Given the description of an element on the screen output the (x, y) to click on. 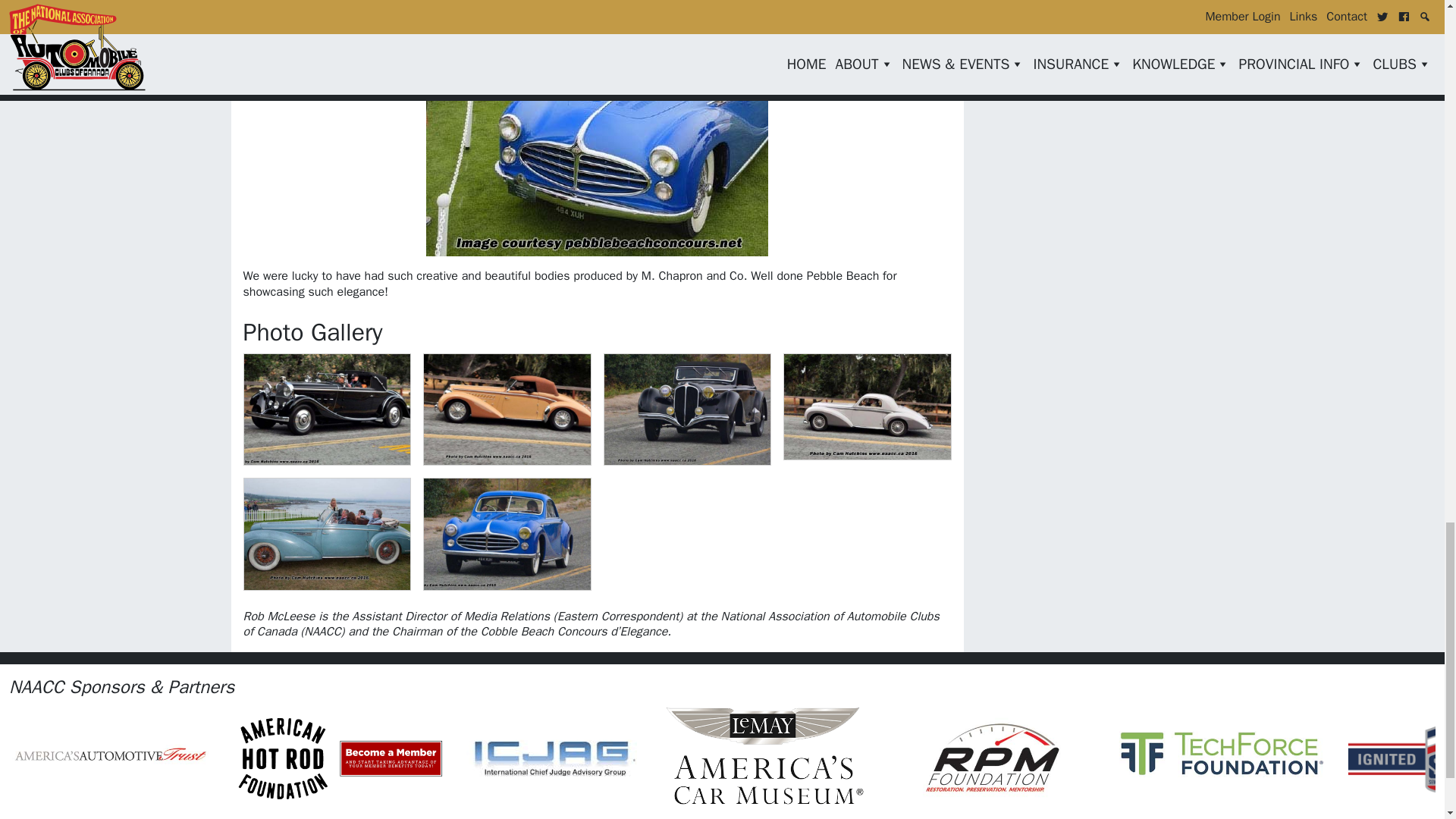
1926 Hispano Suiza H6B Chapron Cabriolet (327, 409)
1949 Delahaye 135 M Chapron Cabriolet (327, 533)
1948 Delahaye 135 M Chapron Coupe (867, 406)
1938 Delahaye 135 MS Chapron Cabriolet (507, 409)
